Given the description of an element on the screen output the (x, y) to click on. 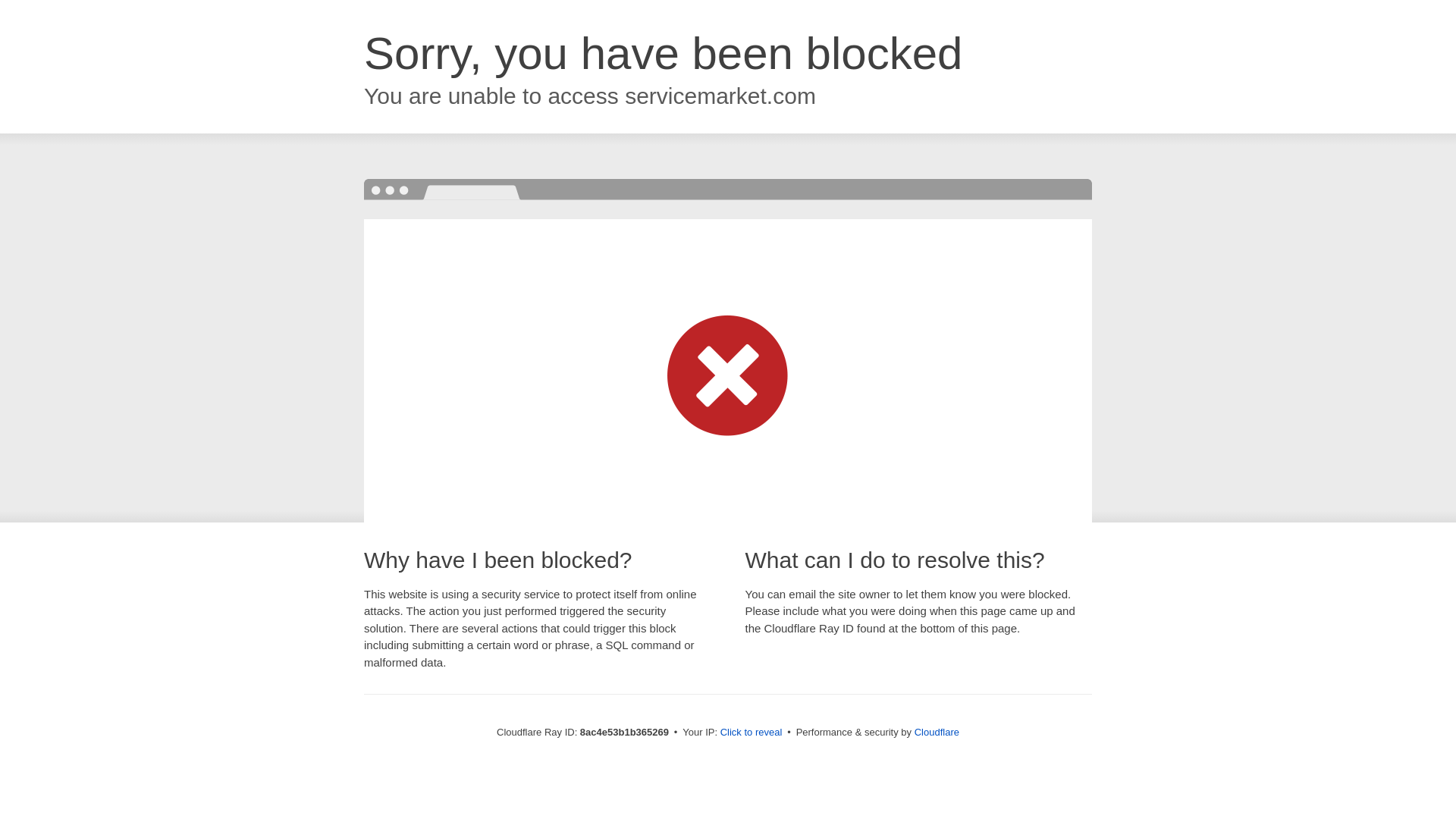
Cloudflare (936, 731)
Click to reveal (751, 732)
